Given the description of an element on the screen output the (x, y) to click on. 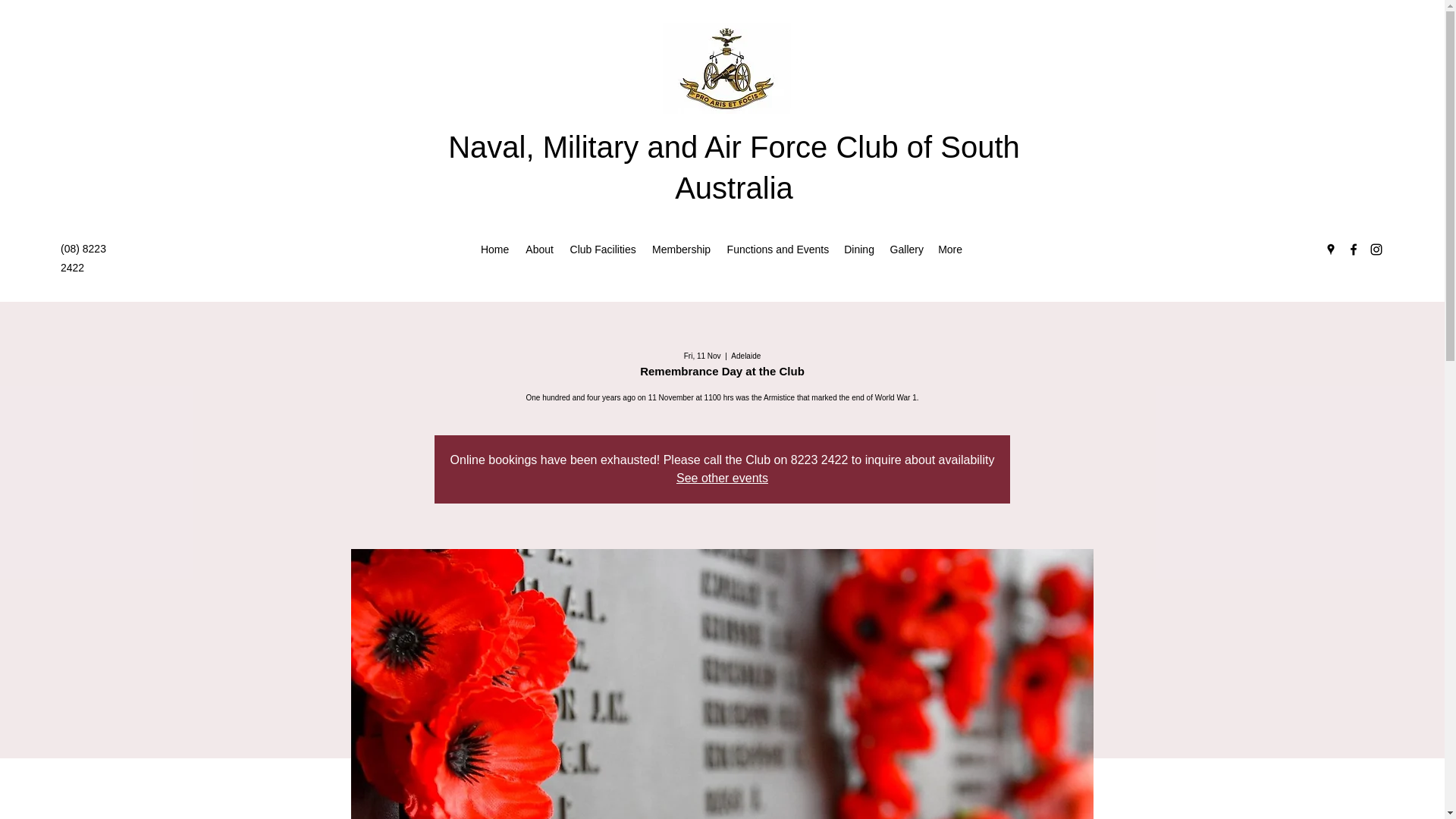
Functions and Events (777, 249)
Gallery (906, 249)
Naval, Military and Air Force Club of South Australia (734, 167)
Club Facilities (602, 249)
Membership (681, 249)
Home (494, 249)
See other events (722, 477)
Dining (858, 249)
About (539, 249)
